Given the description of an element on the screen output the (x, y) to click on. 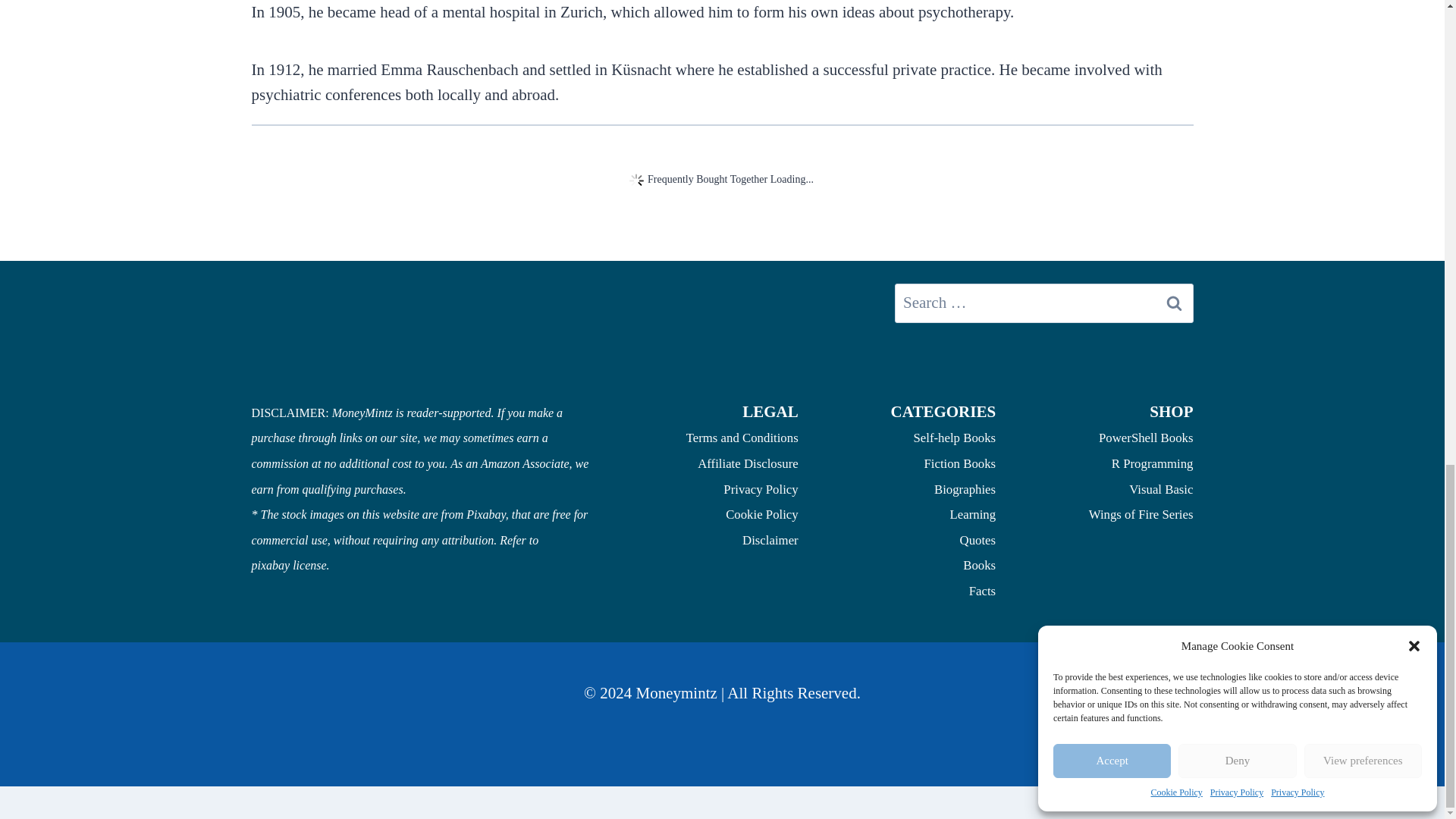
Affiliate Disclosure (747, 463)
Fiction Books (959, 463)
Disclaimer (769, 540)
Self-help Books (953, 437)
Search (1174, 302)
Terms and Conditions (741, 437)
Cookie Policy (761, 513)
license. (310, 564)
Privacy Policy (760, 489)
Search (1174, 302)
Search (1174, 302)
